Given the description of an element on the screen output the (x, y) to click on. 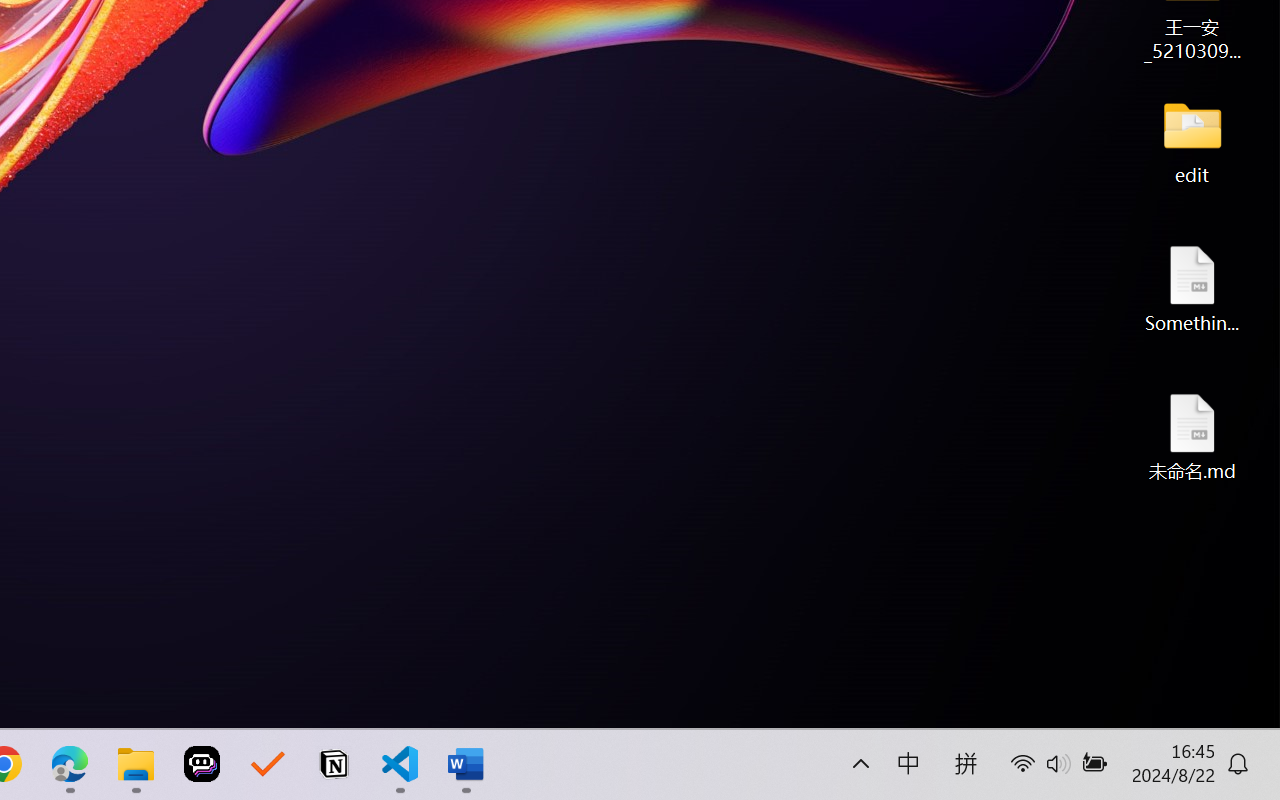
Something.md (1192, 288)
